Given the description of an element on the screen output the (x, y) to click on. 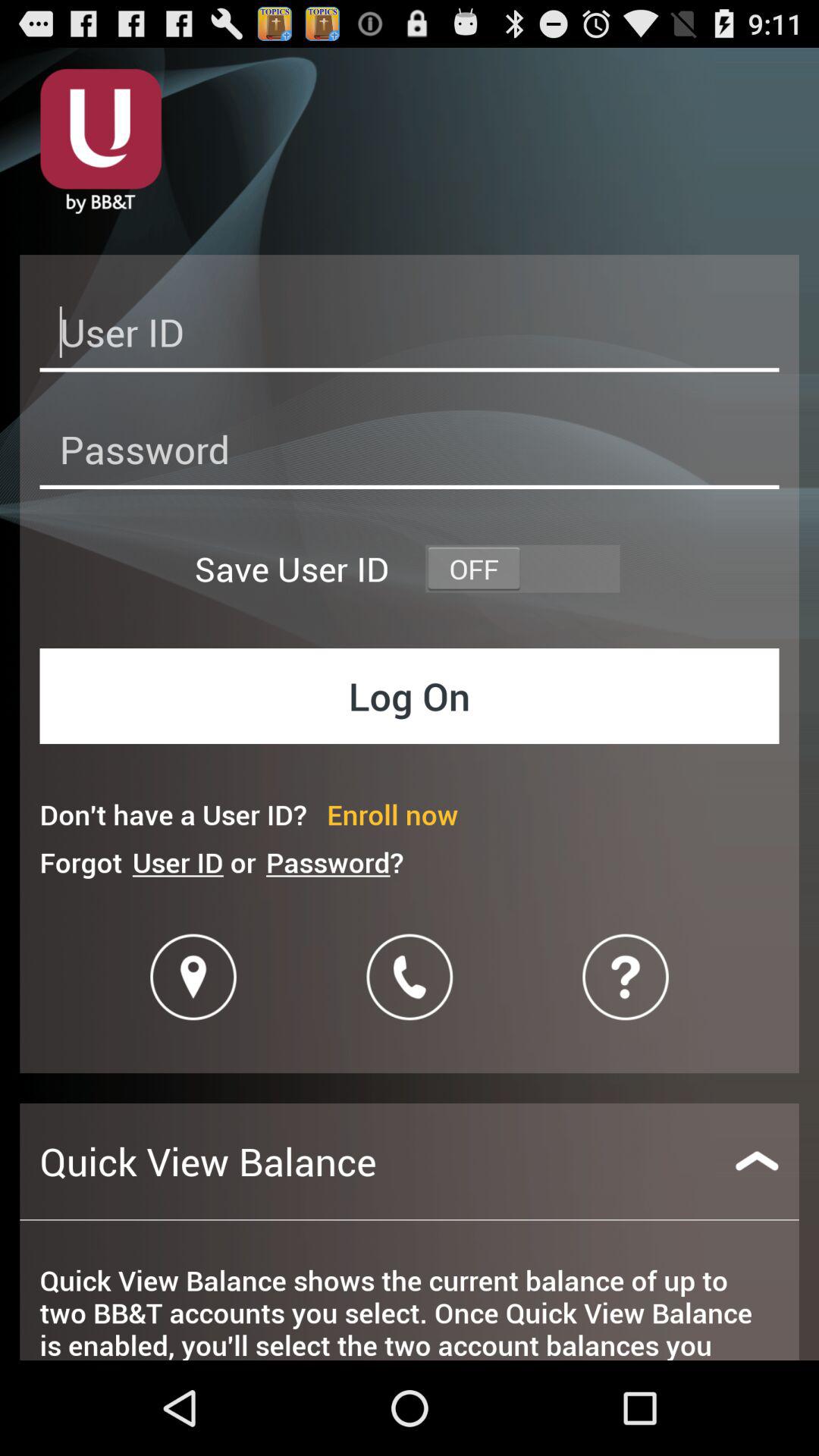
click icon below don t have (334, 861)
